Given the description of an element on the screen output the (x, y) to click on. 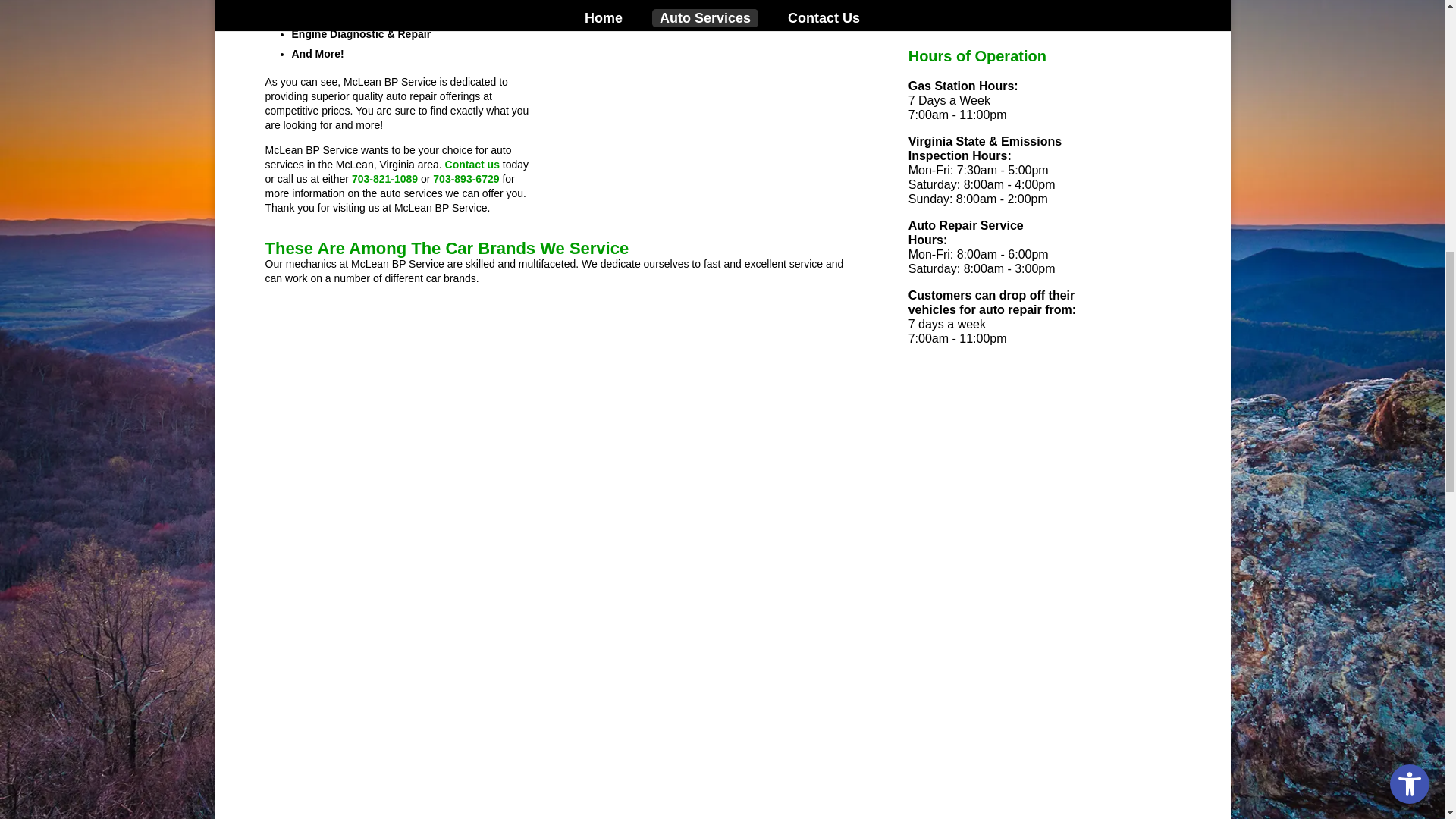
703-821-1089 (384, 178)
Contact us (472, 164)
703-893-6729 (465, 178)
